Given the description of an element on the screen output the (x, y) to click on. 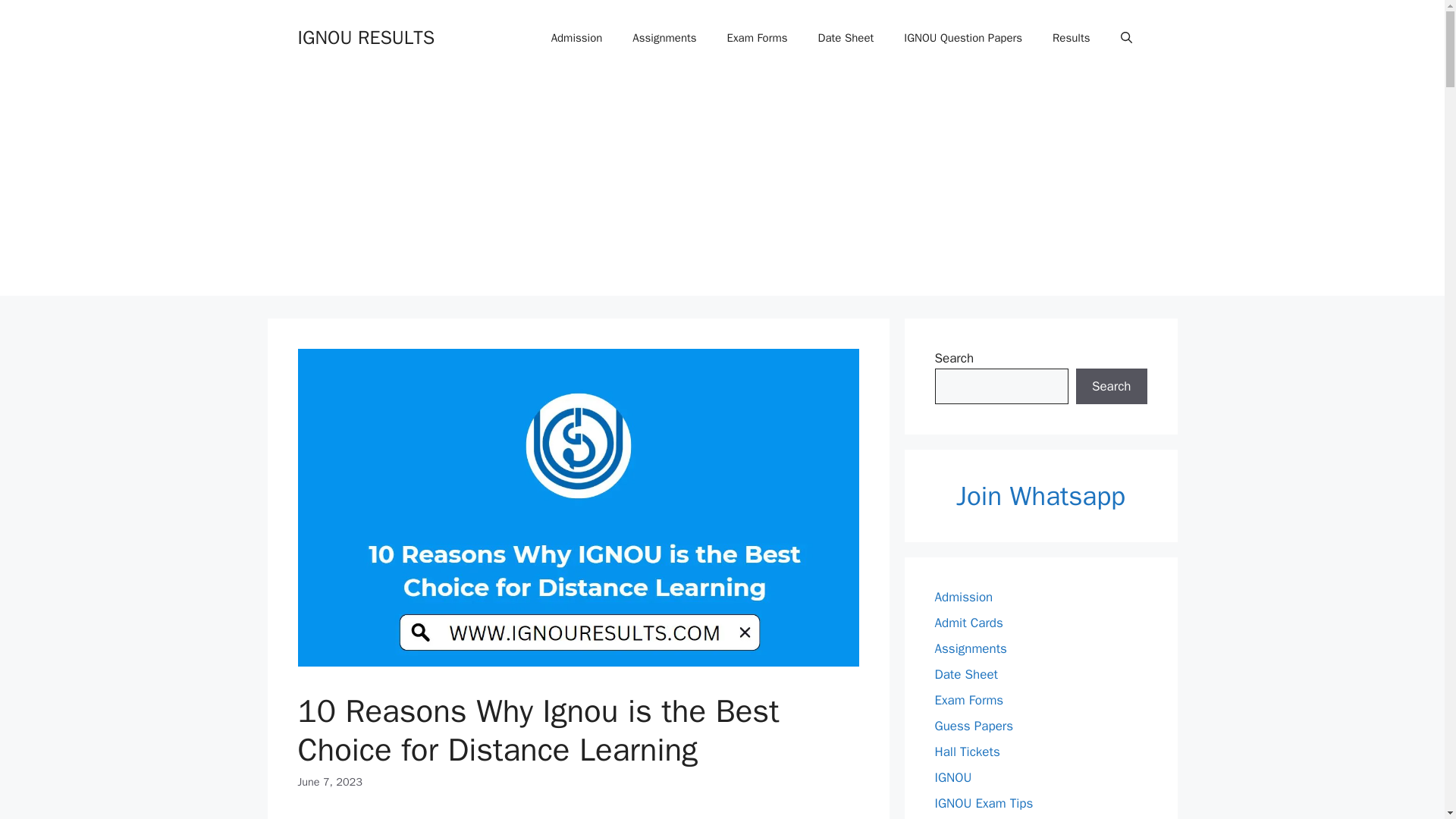
IGNOU RESULTS (365, 37)
IGNOU Question Papers (962, 37)
Assignments (664, 37)
Exam Forms (757, 37)
Date Sheet (846, 37)
Admission (576, 37)
Results (1070, 37)
